Given the description of an element on the screen output the (x, y) to click on. 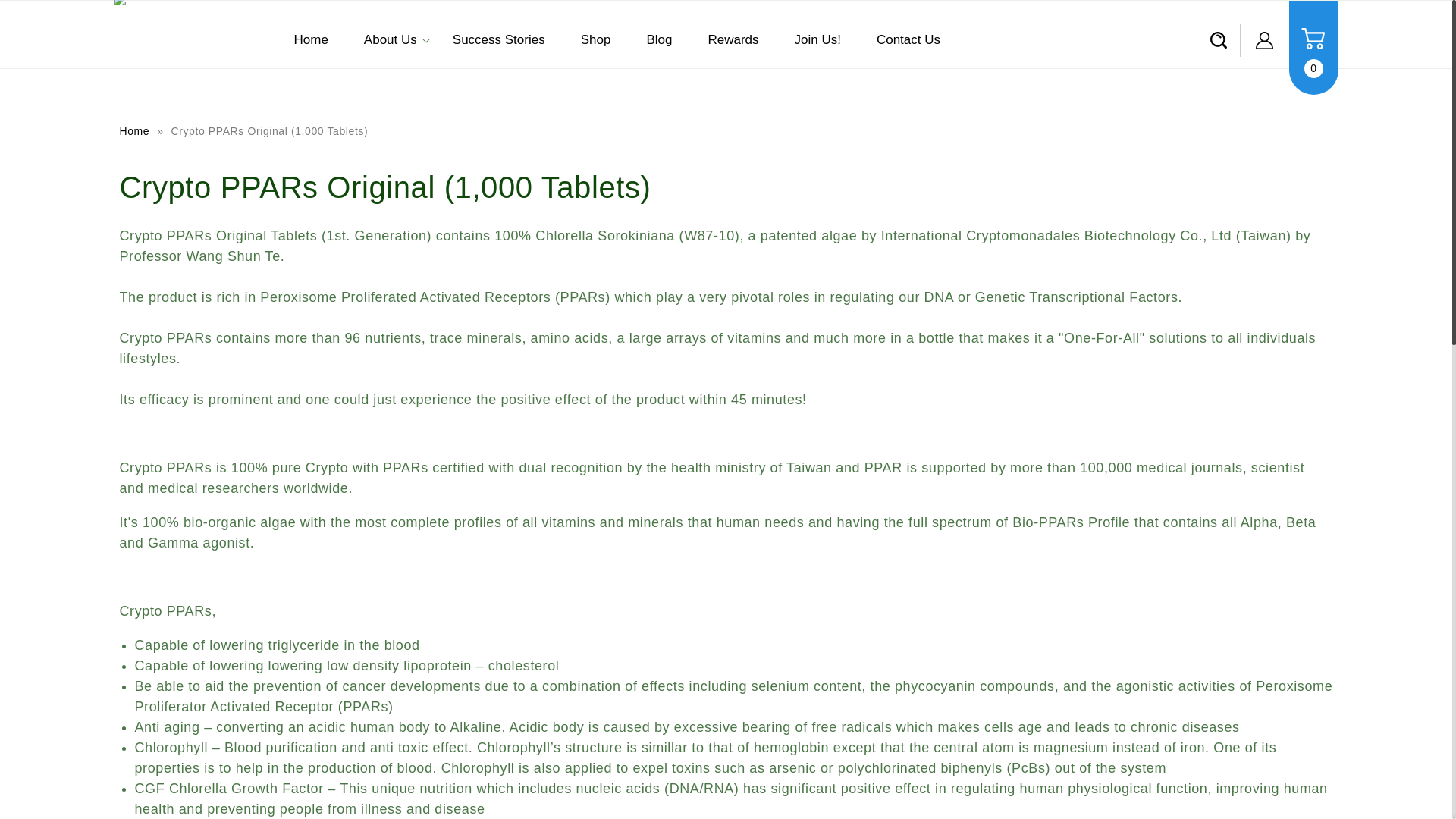
Shop (597, 39)
Rewards (733, 39)
Contact Us (909, 39)
Home (312, 39)
Skip to content (45, 17)
Log in (1264, 39)
Home (135, 131)
Join Us! (818, 39)
Blog (659, 39)
Home (135, 131)
Success Stories (499, 39)
